Given the description of an element on the screen output the (x, y) to click on. 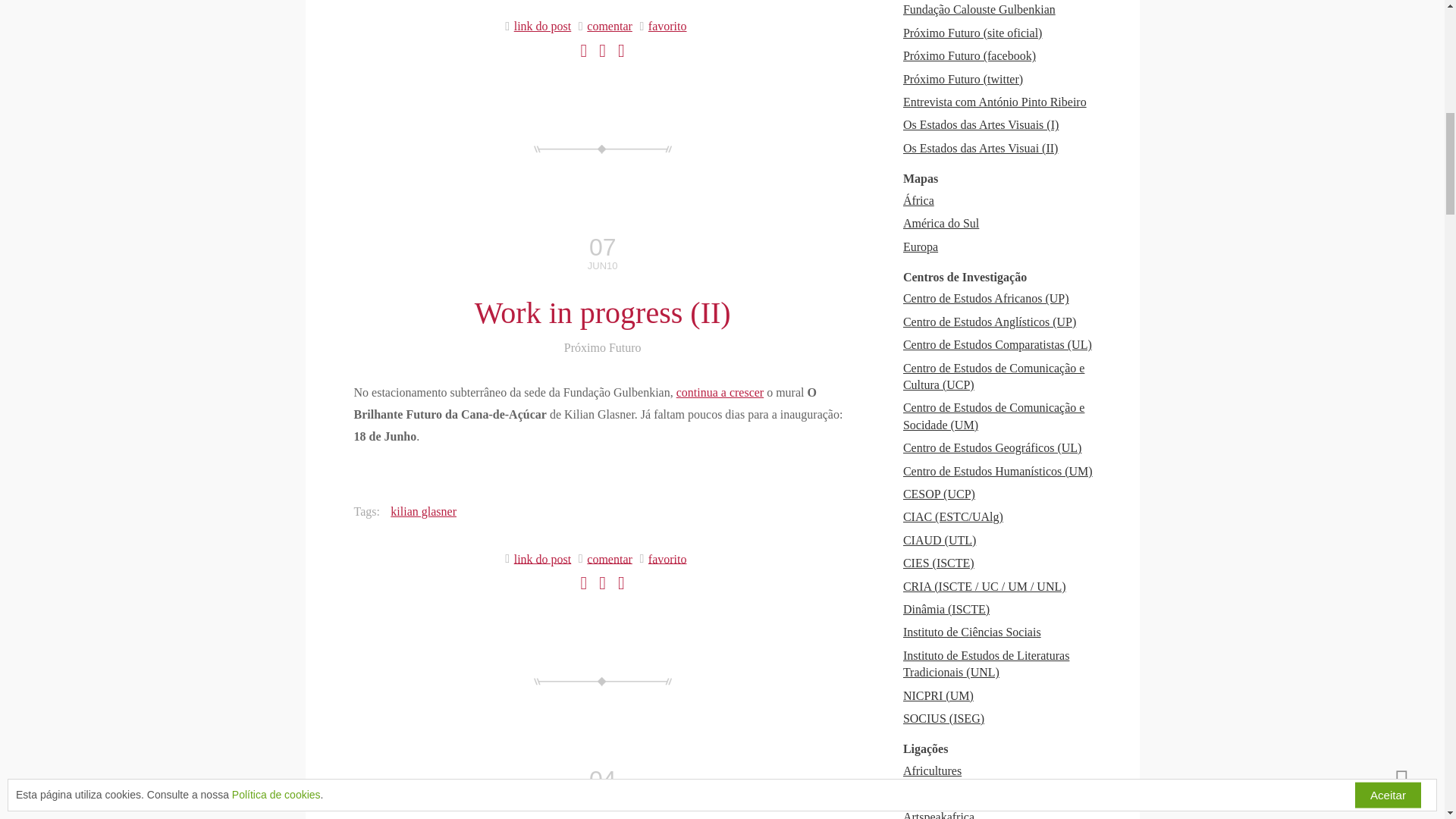
link do post (542, 25)
comentar (609, 558)
continua a crescer (719, 391)
favorito (666, 558)
kilian glasner (423, 511)
comentar (609, 25)
favorito (666, 25)
link do post (542, 558)
